Given the description of an element on the screen output the (x, y) to click on. 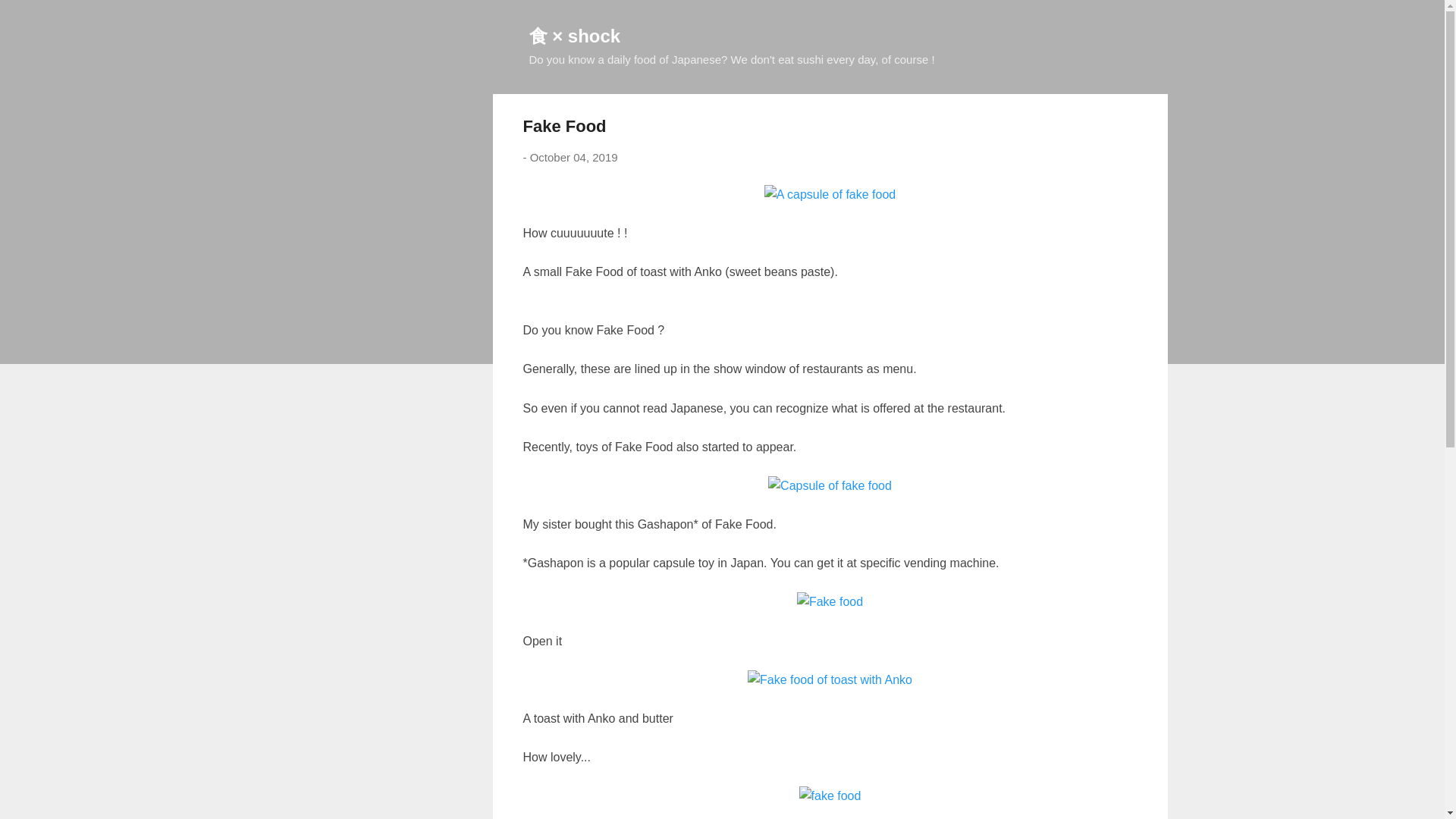
Fake food (829, 194)
Fake food (830, 680)
fake food (830, 795)
Search (29, 18)
October 04, 2019 (573, 156)
permanent link (573, 156)
Fake food (829, 601)
Capsule of fake food (829, 485)
